Given the description of an element on the screen output the (x, y) to click on. 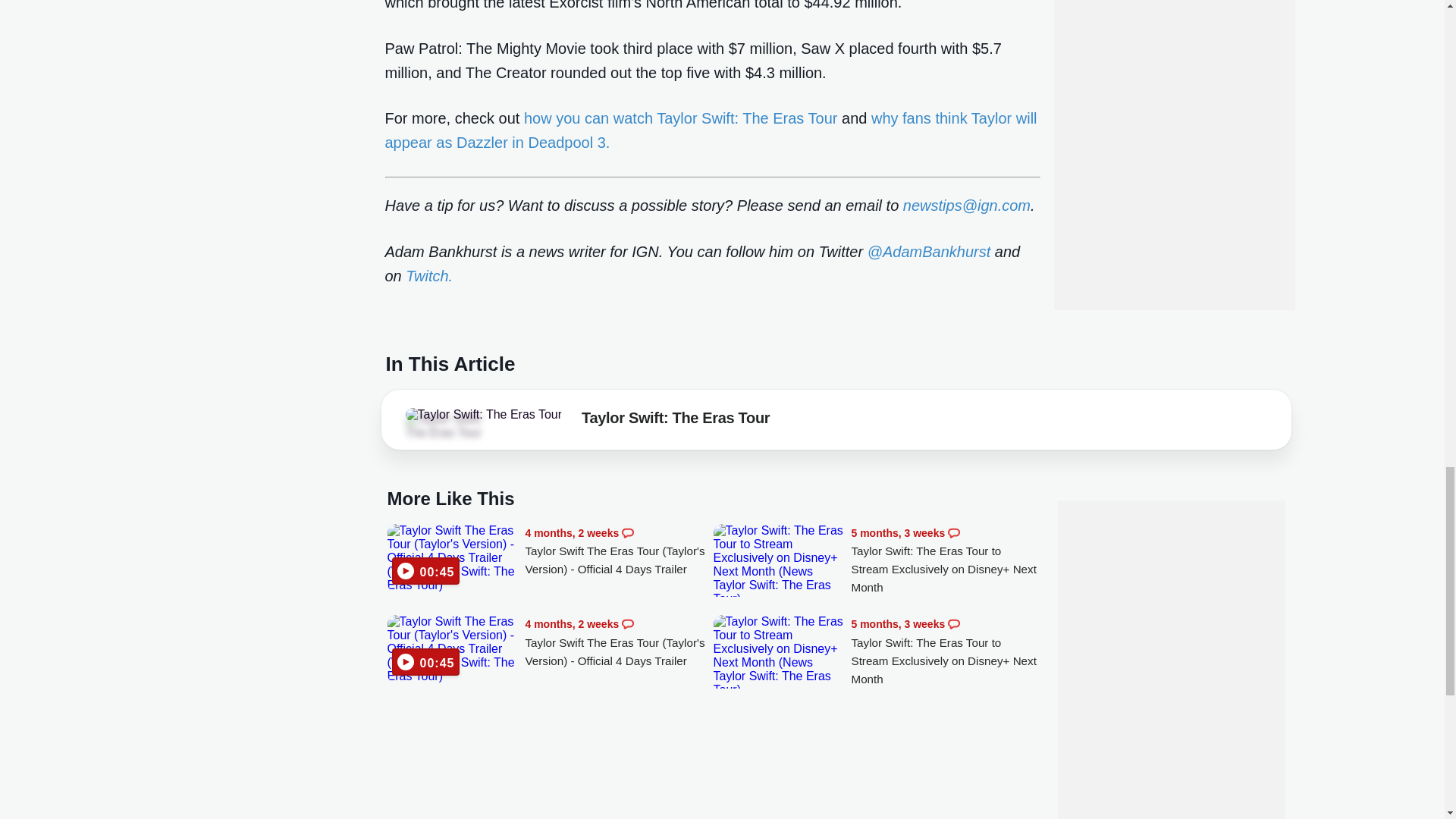
Comments (627, 623)
Taylor Swift: The Eras Tour (483, 414)
Taylor Swift: The Eras Tour (675, 420)
Comments (953, 623)
Taylor Swift: The Eras Tour (448, 425)
Comments (627, 532)
Comments (953, 532)
